Given the description of an element on the screen output the (x, y) to click on. 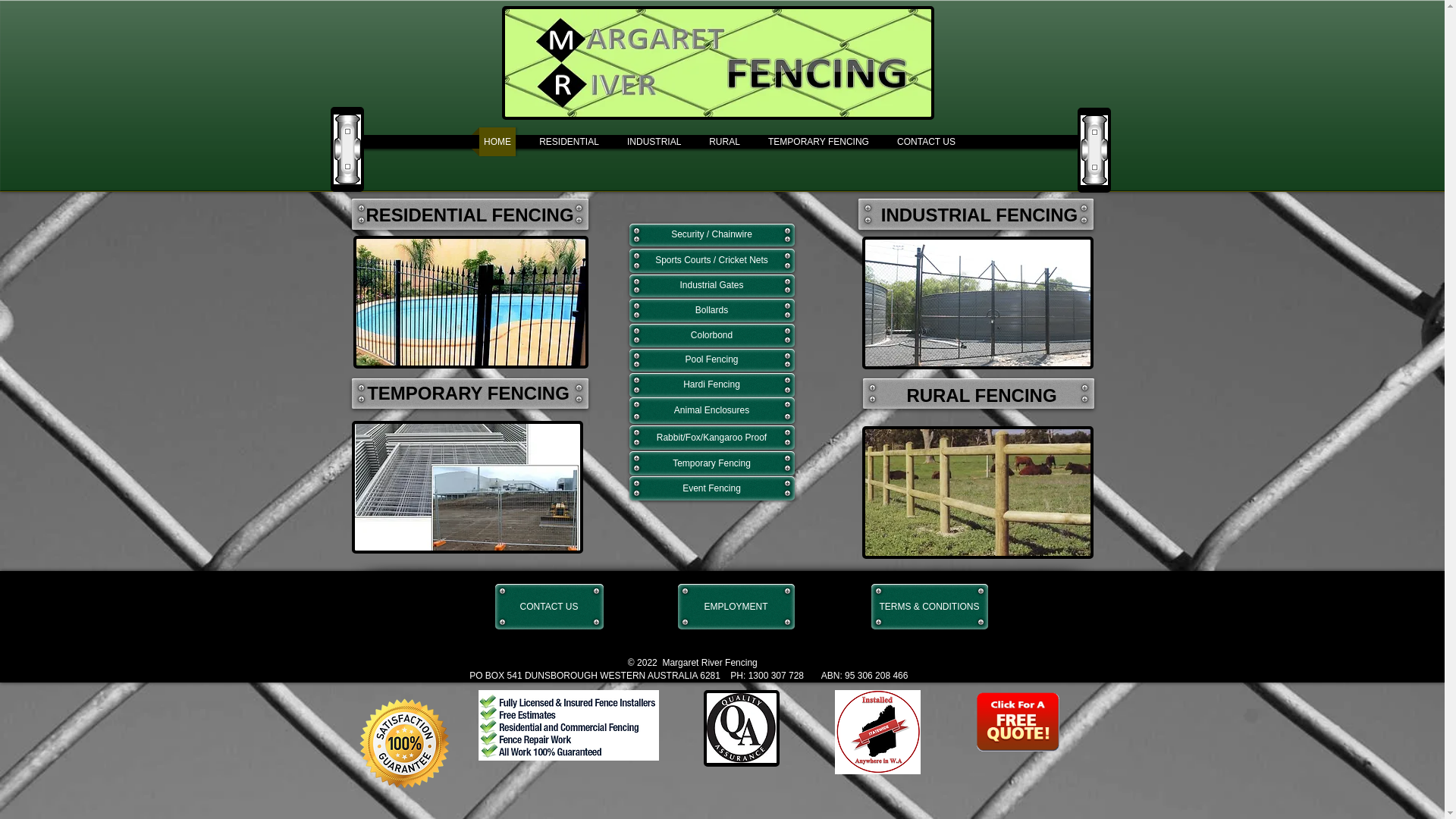
Bollards Element type: text (711, 310)
CONTACT US Element type: text (925, 141)
temporary-fencing-2.jpg Element type: hover (467, 486)
Rabbit/Fox/Kangaroo Proof Element type: text (711, 437)
Pool Fencing Element type: text (711, 359)
Temporary Fencing Element type: text (711, 463)
Hardi Fencing Element type: text (711, 385)
HOME Element type: text (497, 141)
EMPLOYMENT Element type: text (735, 606)
Security / Chainwire Element type: text (711, 234)
INDUSTRIAL Element type: text (654, 141)
Event Fencing Element type: text (711, 488)
RESIDENTIAL Element type: text (569, 141)
RURAL Element type: text (724, 141)
CONTACT US Element type: text (548, 606)
Colorbond Element type: text (711, 335)
TERMS & CONDITIONS Element type: text (928, 606)
Animal Enclosures Element type: text (711, 410)
TEMPORARY FENCING Element type: text (818, 141)
Industrial Gates Element type: text (711, 285)
Sports Courts / Cricket Nets Element type: text (711, 260)
